Given the description of an element on the screen output the (x, y) to click on. 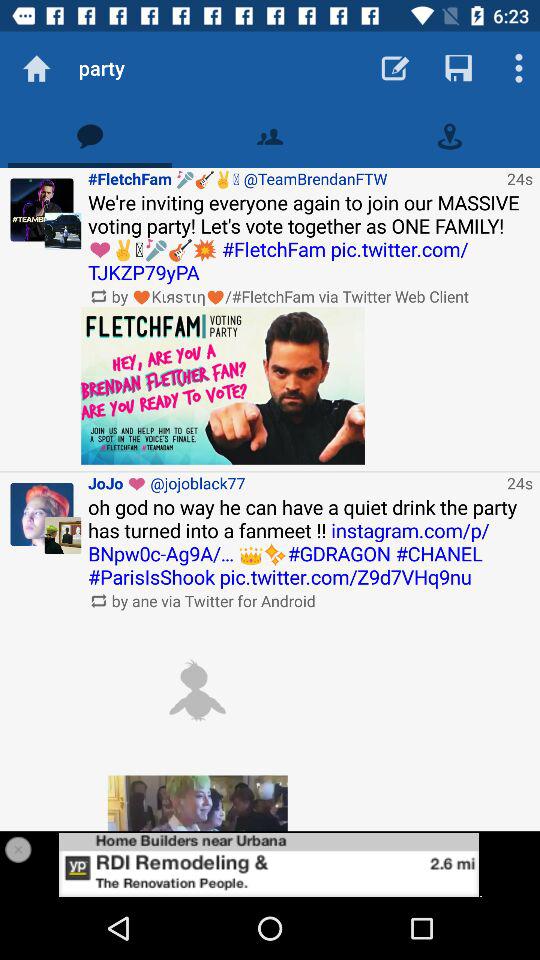
choose the item next to the party app (36, 68)
